Given the description of an element on the screen output the (x, y) to click on. 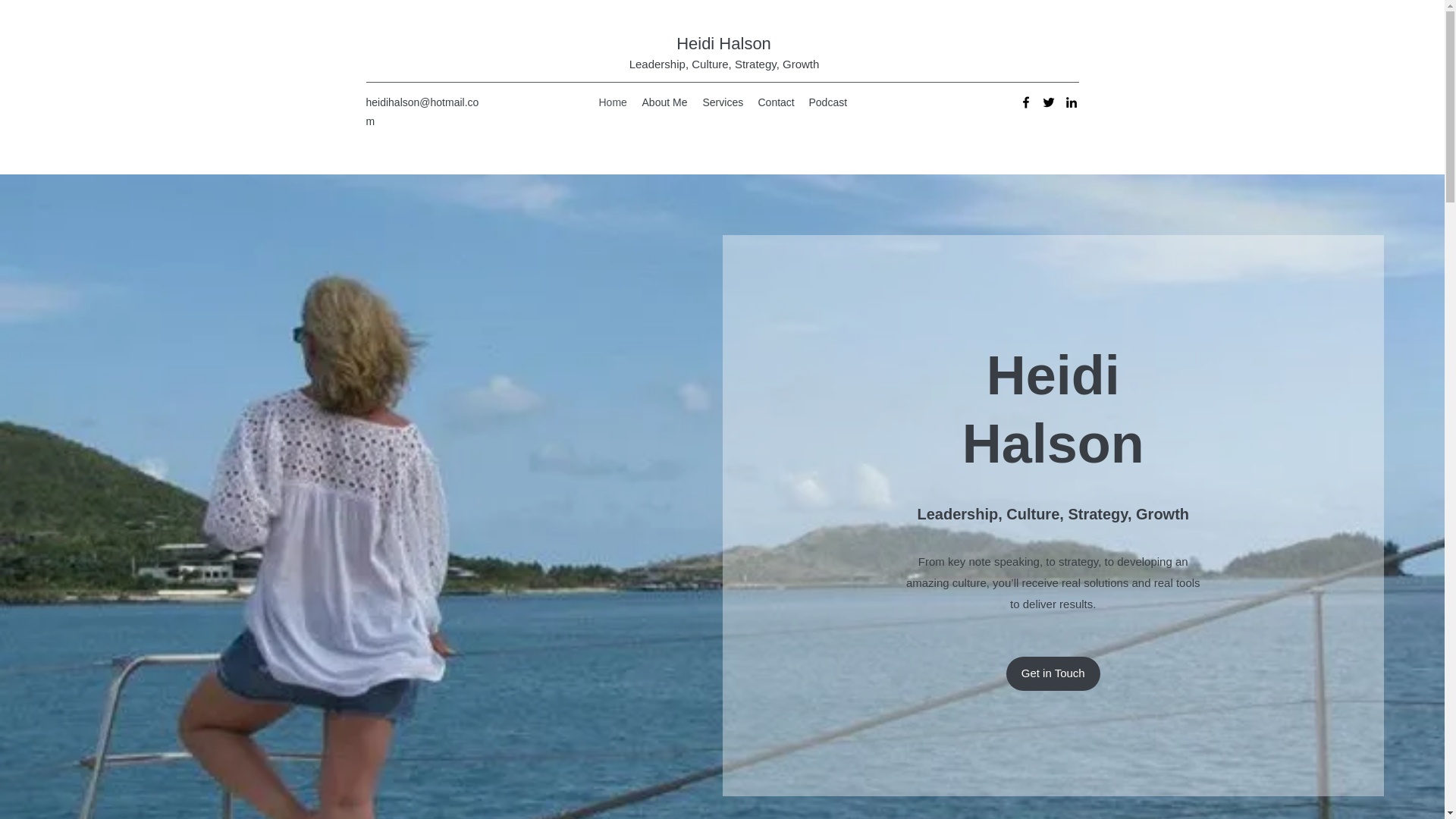
About Me (663, 101)
Podcast (826, 101)
Home (612, 101)
Heidi Halson (724, 43)
Contact (776, 101)
Get in Touch (1053, 673)
Services (721, 101)
